Given the description of an element on the screen output the (x, y) to click on. 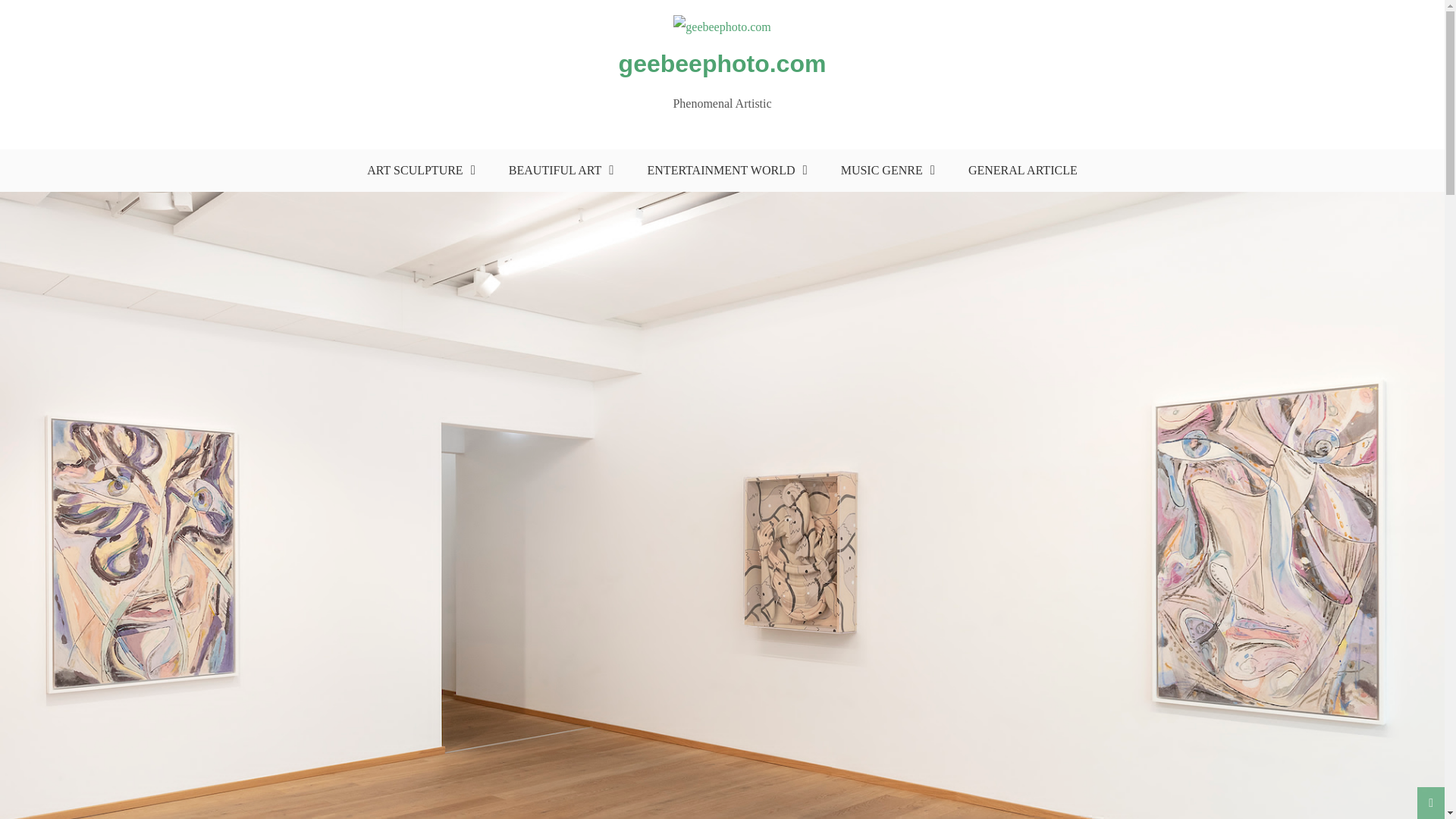
ART SCULPTURE (417, 170)
GENERAL ARTICLE (1022, 169)
BEAUTIFUL ART (557, 170)
geebeephoto.com (722, 62)
MUSIC GENRE (884, 170)
ENTERTAINMENT WORLD (723, 170)
